Given the description of an element on the screen output the (x, y) to click on. 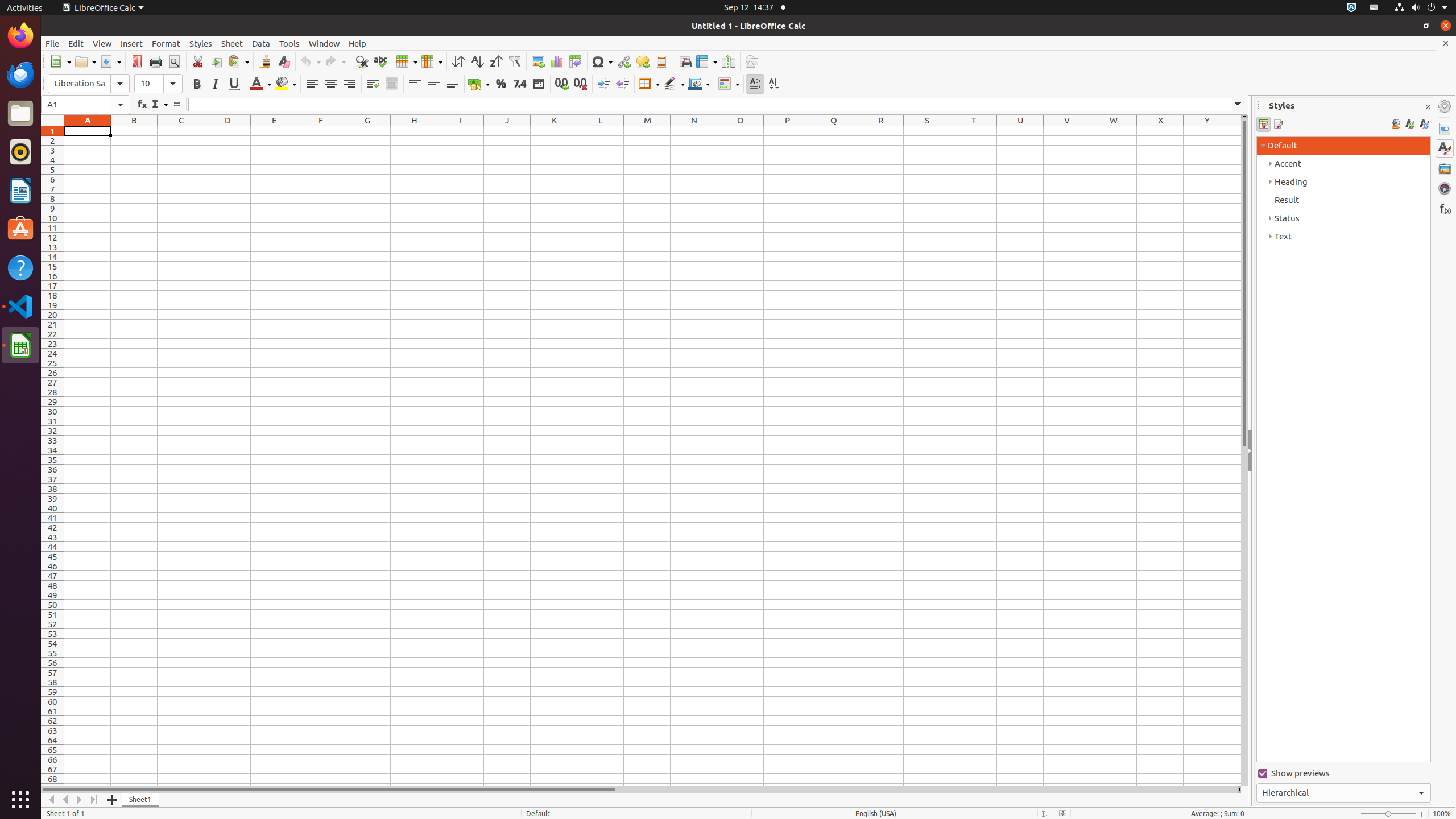
M1 Element type: table-cell (646, 130)
E1 Element type: table-cell (273, 130)
R1 Element type: table-cell (880, 130)
Y1 Element type: table-cell (1206, 130)
Increase Element type: push-button (603, 83)
